Given the description of an element on the screen output the (x, y) to click on. 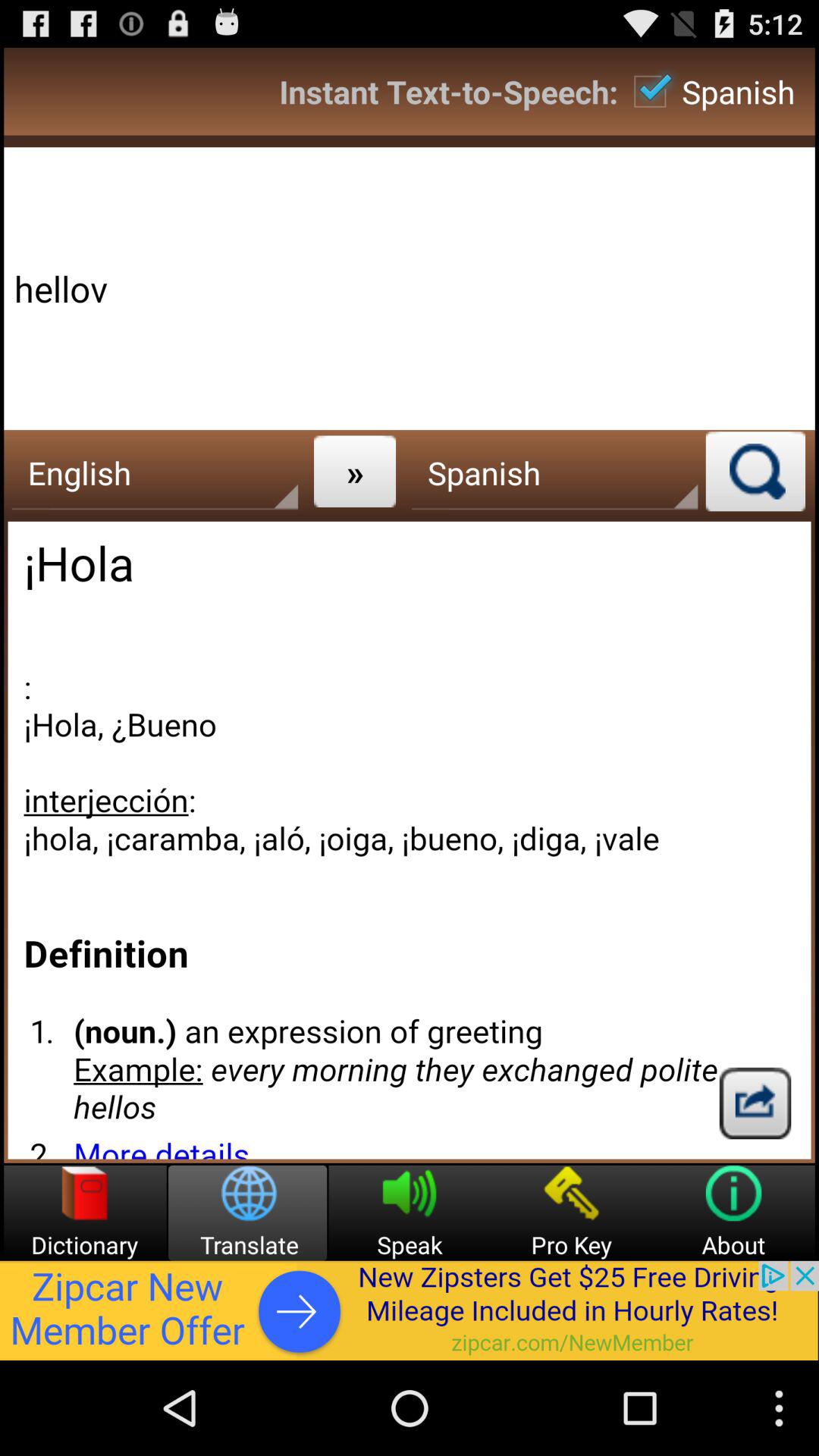
share page (755, 1103)
